Given the description of an element on the screen output the (x, y) to click on. 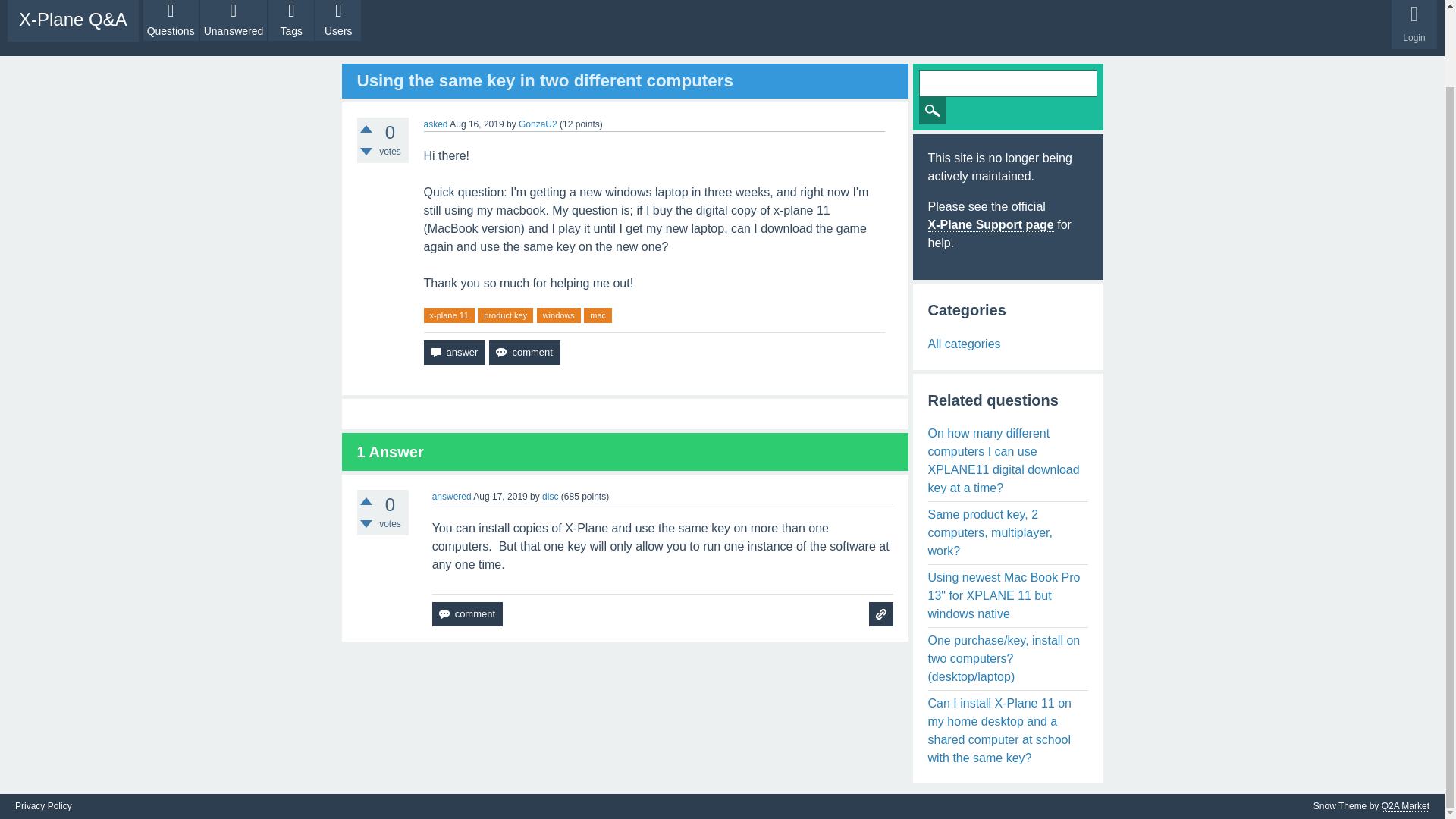
Add a comment on this answer (467, 613)
Add a comment on this question (524, 352)
comment (467, 613)
product key (504, 315)
comment (524, 352)
Unanswered (233, 20)
Click to vote down (365, 151)
All categories (964, 343)
Search (932, 110)
Search (932, 110)
